Given the description of an element on the screen output the (x, y) to click on. 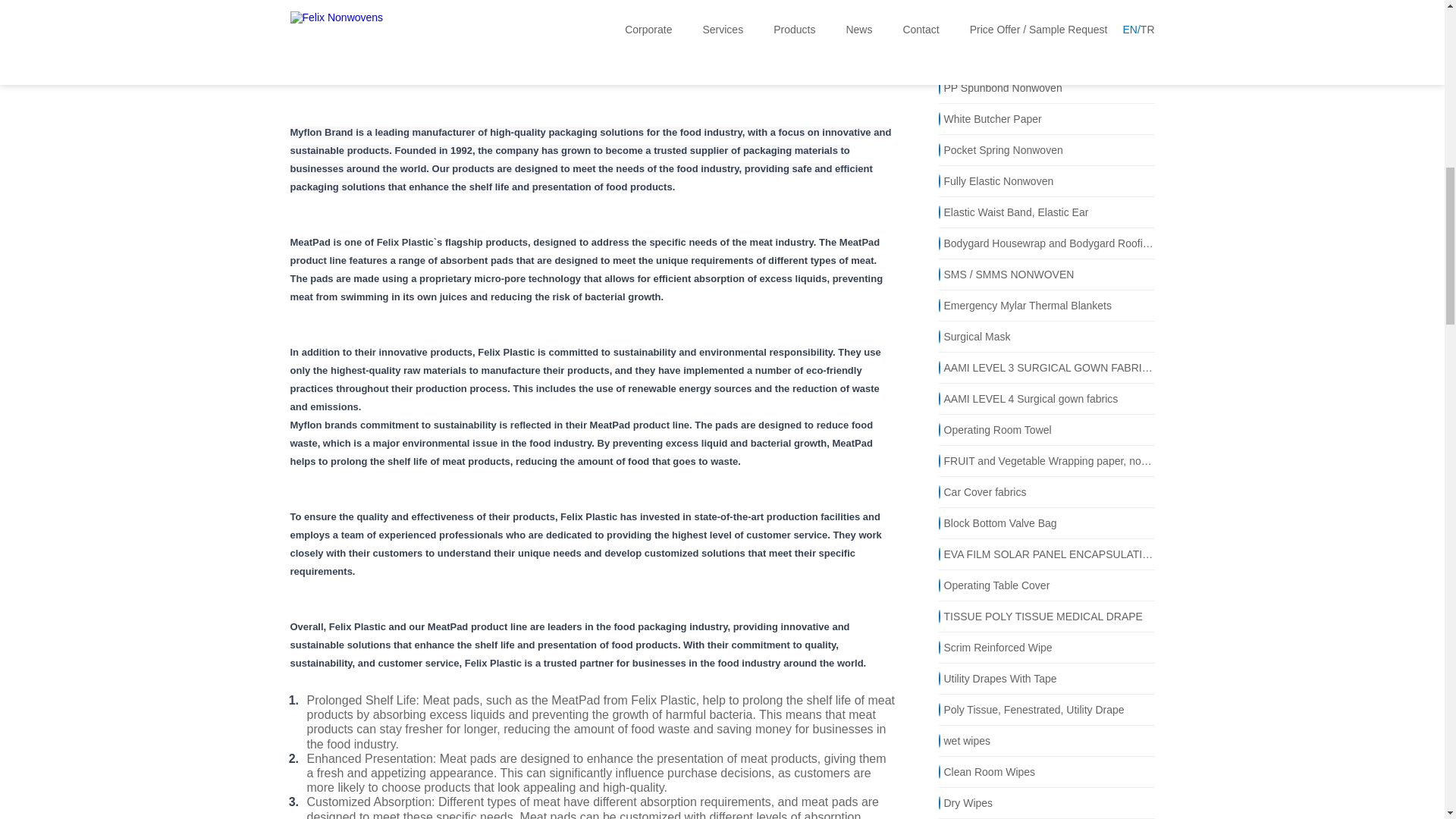
Emergency Mylar Thermal Blankets (1046, 305)
AAMI LEVEL 3 SURGICAL GOWN FABRICS (1046, 367)
SURGICAL INCISE DRAPE (1046, 56)
Pocket Spring Nonwoven (1046, 150)
Fully Elastic Nonwoven (1046, 181)
Bodygard Housewrap and Bodygard Roofing underlayment (1046, 242)
Surgical Mask (1046, 336)
PP Spunbond Nonwoven (1046, 87)
Elastic Waist Band, Elastic Ear (1046, 212)
